Given the description of an element on the screen output the (x, y) to click on. 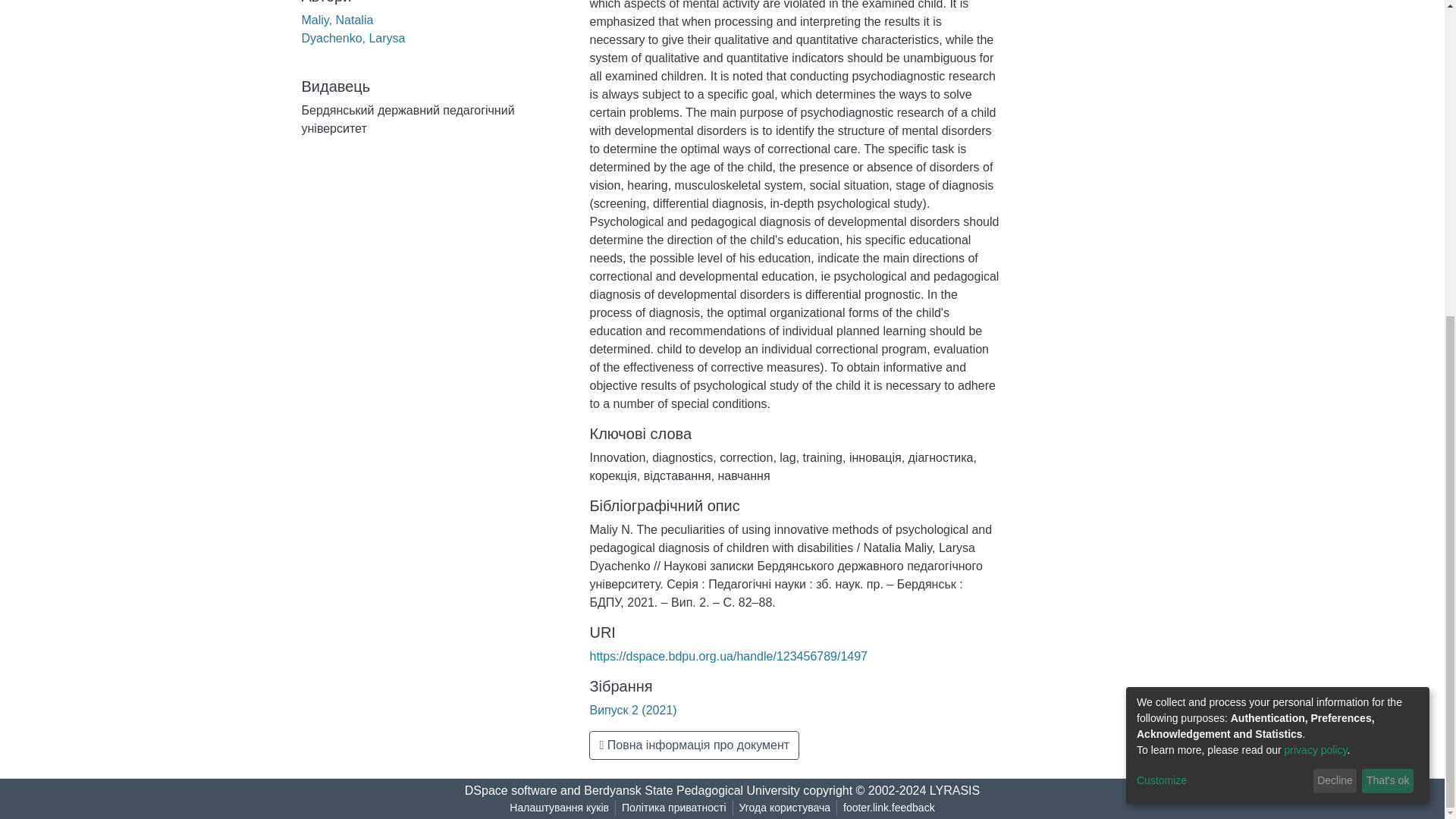
privacy policy (1316, 241)
footer.link.feedback (888, 807)
LYRASIS (954, 789)
Dyachenko, Larysa (353, 38)
Maliy, Natalia (337, 19)
That's ok (1387, 273)
Customize (1222, 272)
DSpace software and Berdyansk State Pedagogical University (631, 789)
Decline (1334, 273)
